Given the description of an element on the screen output the (x, y) to click on. 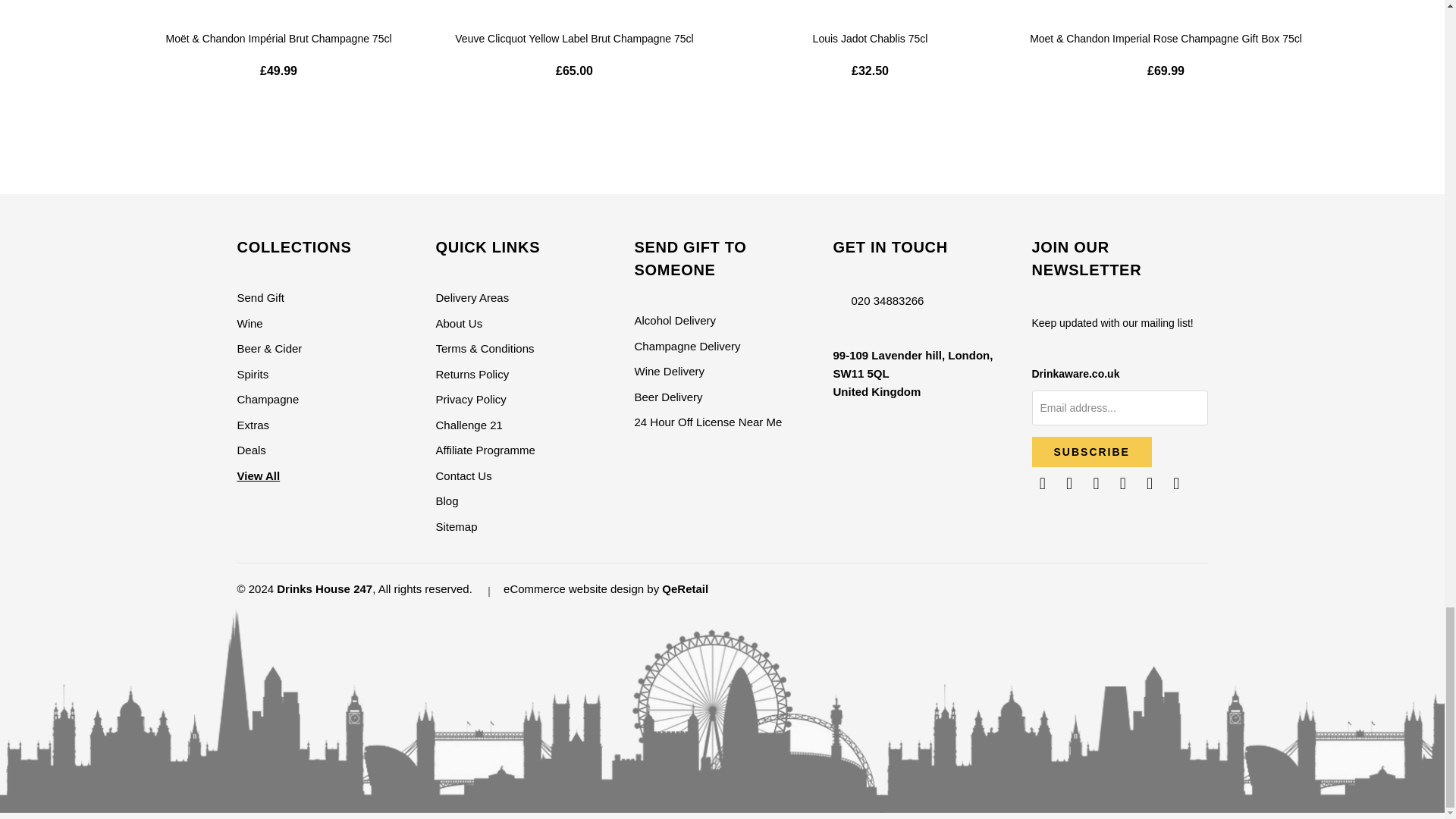
SUBSCRIBE (1090, 451)
